Given the description of an element on the screen output the (x, y) to click on. 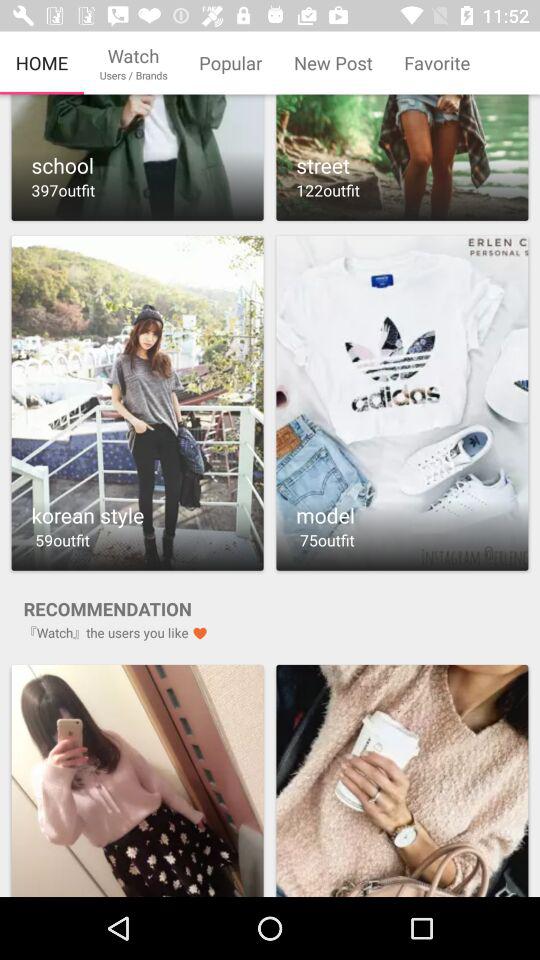
expand the school category (137, 158)
